Given the description of an element on the screen output the (x, y) to click on. 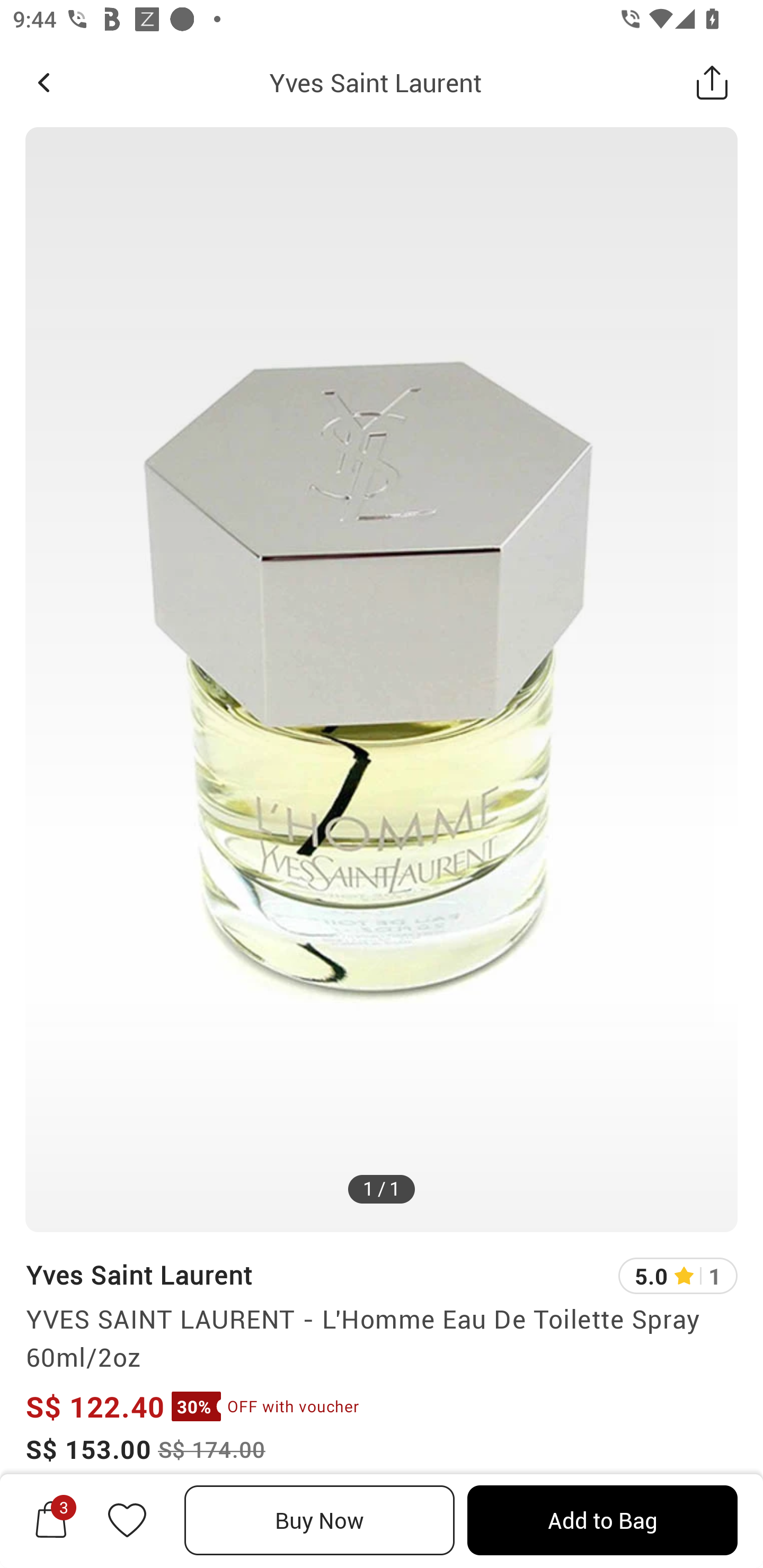
Yves Saint Laurent (375, 82)
Share this Product (711, 82)
Yves Saint Laurent (138, 1274)
5.0 1 (677, 1275)
Buy Now (319, 1519)
Add to Bag (601, 1519)
3 (50, 1520)
